Given the description of an element on the screen output the (x, y) to click on. 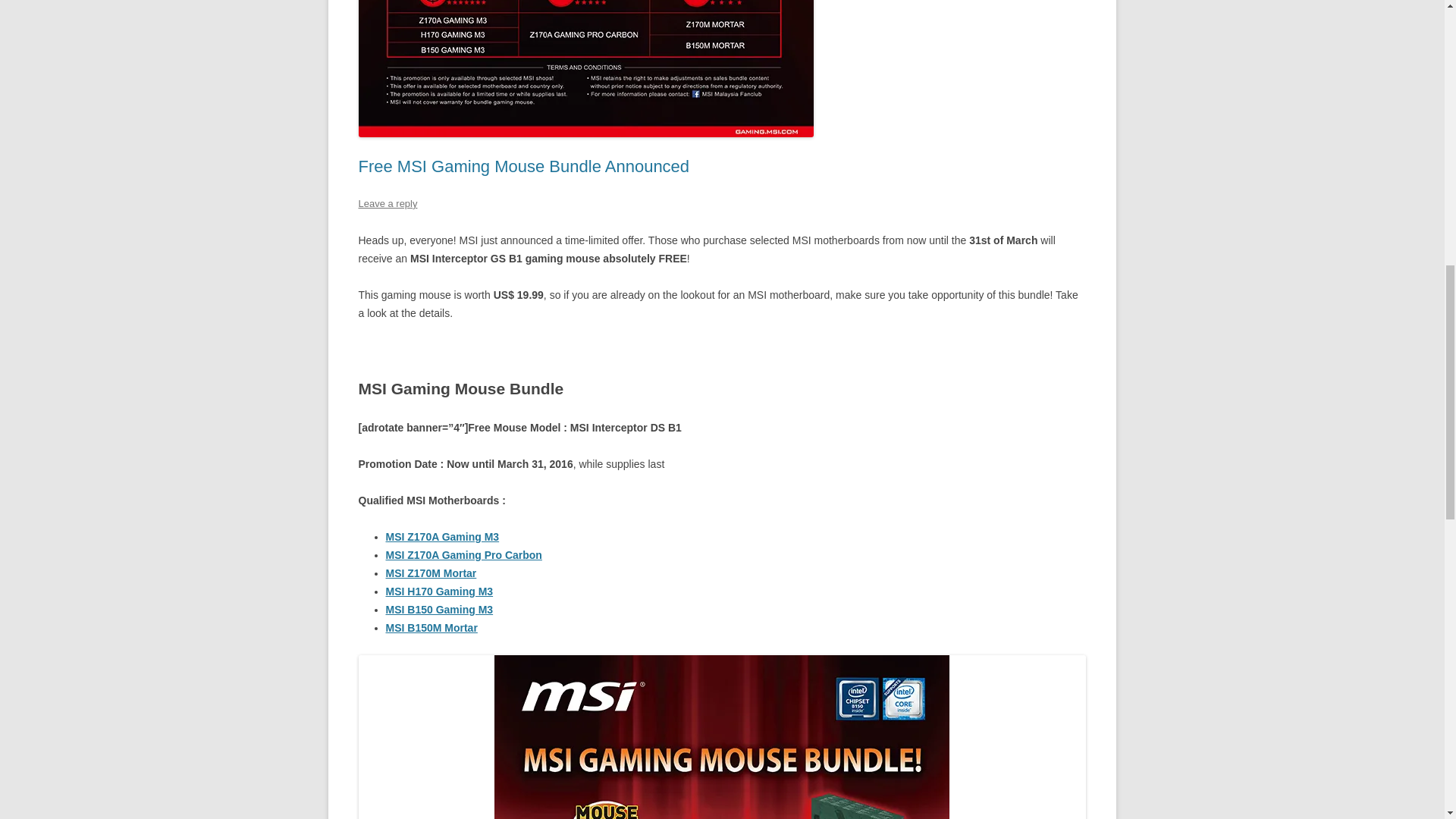
Free MSI Gaming Mouse Bundle Announced (523, 166)
MSI B150M Mortar (431, 627)
MSI B150 Gaming M3 (439, 609)
Leave a reply (387, 203)
MSI Z170A Gaming M3 (442, 536)
MSI Z170A Gaming Pro Carbon (463, 554)
MSI Z170M Mortar (430, 573)
MSI H170 Gaming M3 (439, 591)
